Given the description of an element on the screen output the (x, y) to click on. 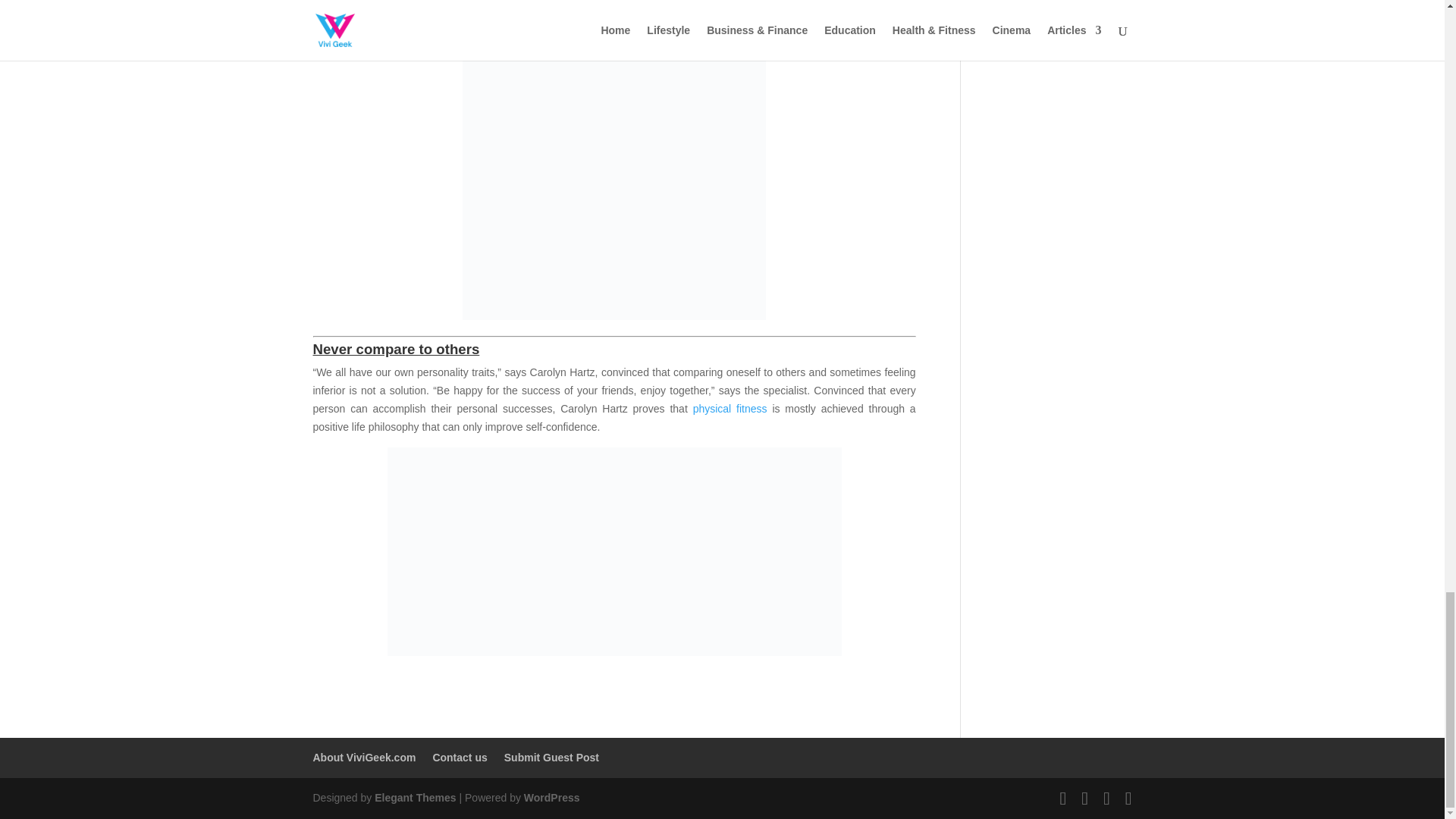
Submit Guest Post (550, 757)
WordPress (551, 797)
physical fitness (730, 408)
Premium WordPress Themes (414, 797)
Contact us (459, 757)
Elegant Themes (414, 797)
About ViviGeek.com (363, 757)
physical fitness (730, 408)
